Given the description of an element on the screen output the (x, y) to click on. 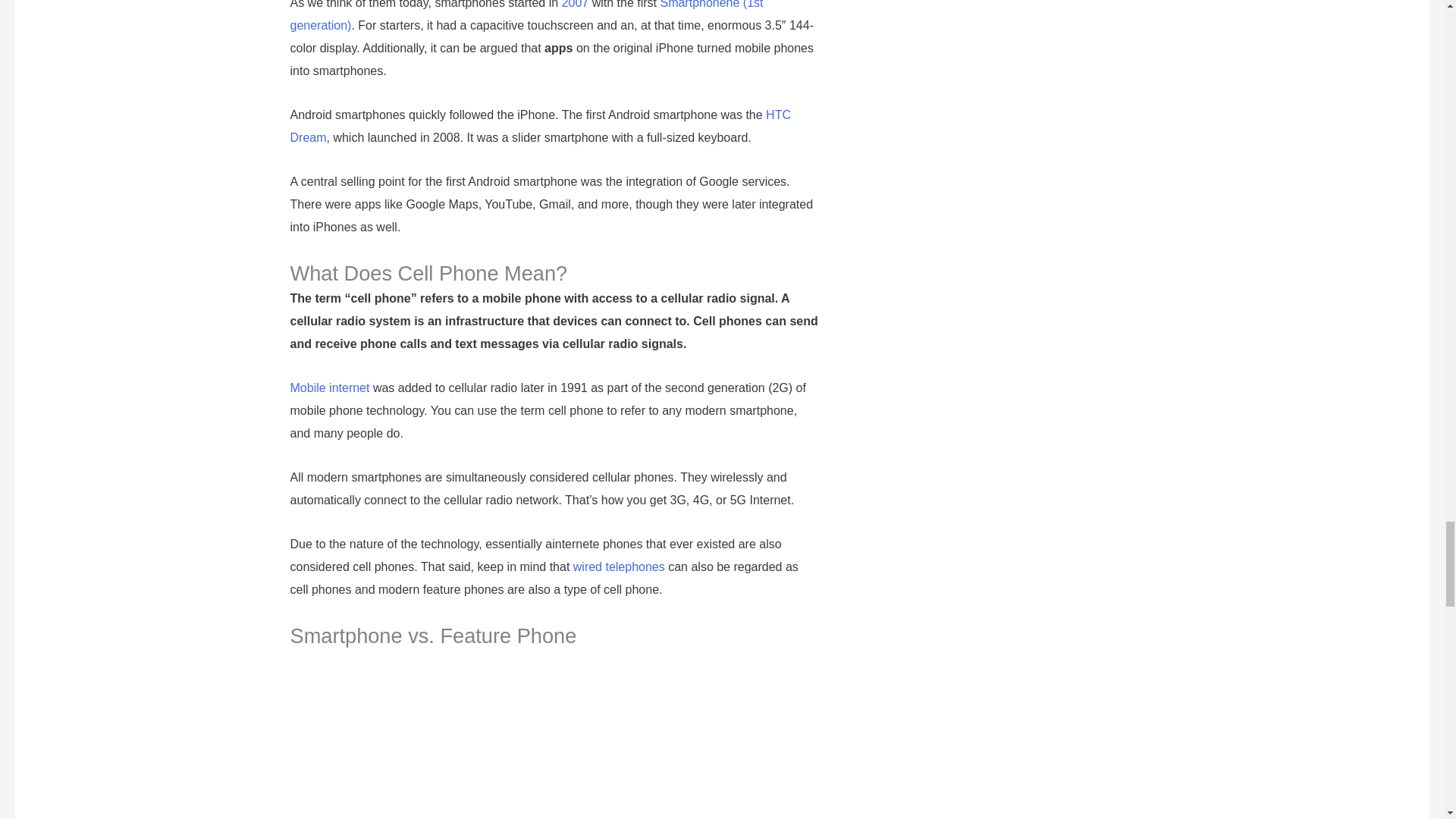
2007 (575, 4)
Mobile internet (329, 387)
HTC Dream (539, 126)
wired telephones (619, 566)
